Given the description of an element on the screen output the (x, y) to click on. 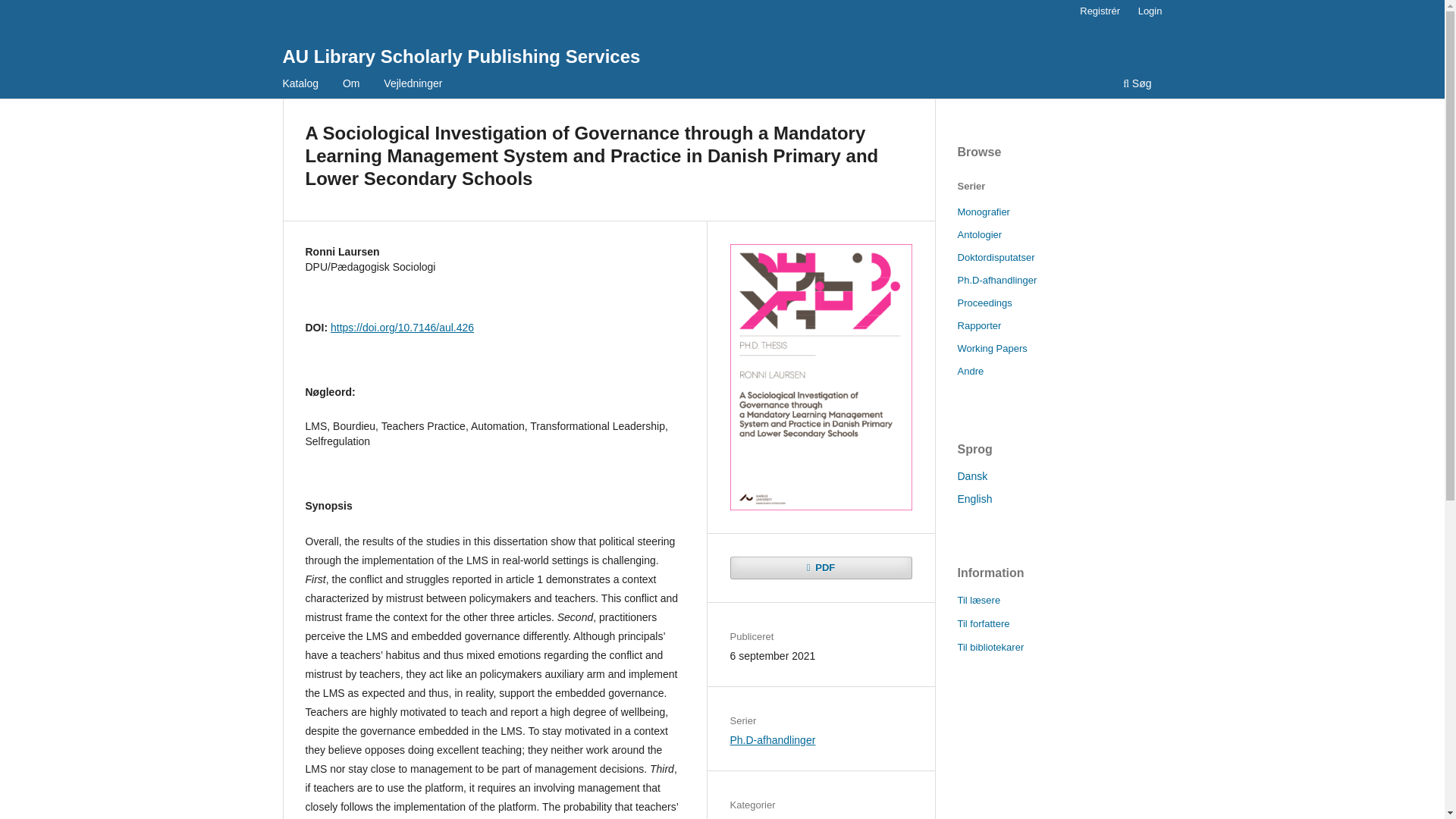
Faculty of Arts (762, 818)
Vejledninger (412, 85)
Til forfattere (982, 623)
Dansk (971, 476)
Ph.D-afhandlinger (772, 739)
Working Papers (991, 348)
Til bibliotekarer (989, 646)
PDF (820, 567)
English (973, 499)
Rapporter (978, 325)
